Given the description of an element on the screen output the (x, y) to click on. 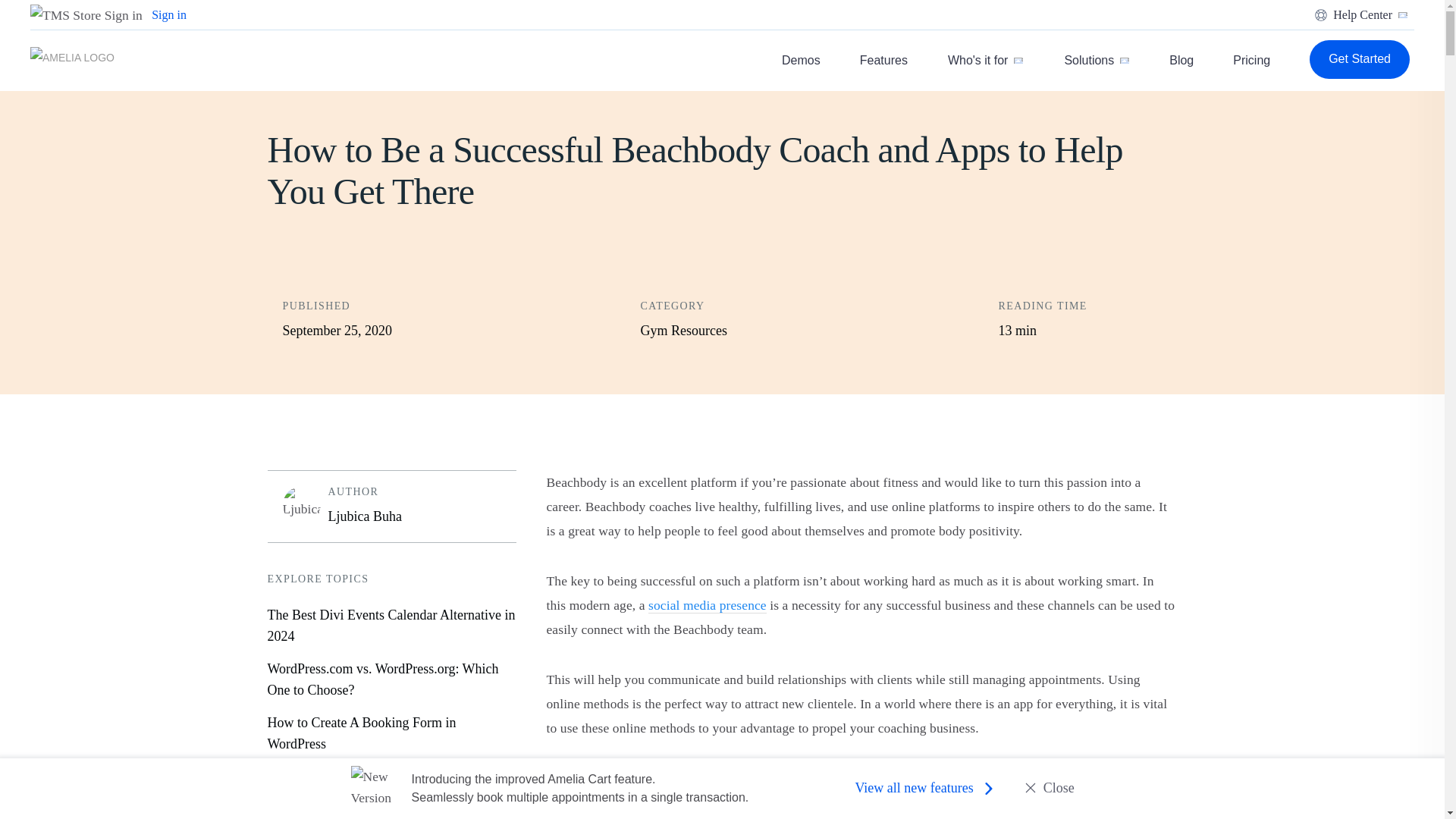
Demos (801, 31)
Features (883, 40)
Pricing (1251, 60)
Get Started (1358, 59)
